Given the description of an element on the screen output the (x, y) to click on. 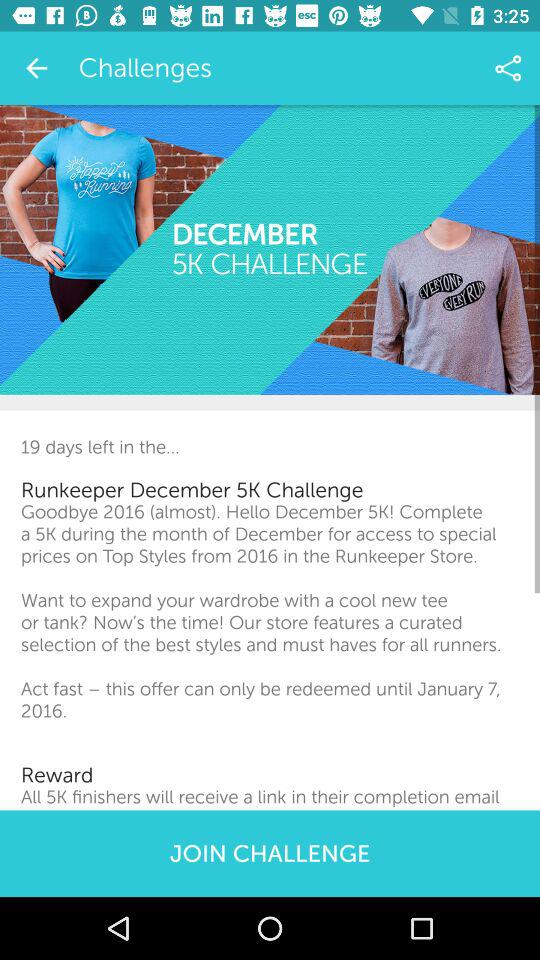
click join challenge (270, 853)
